Given the description of an element on the screen output the (x, y) to click on. 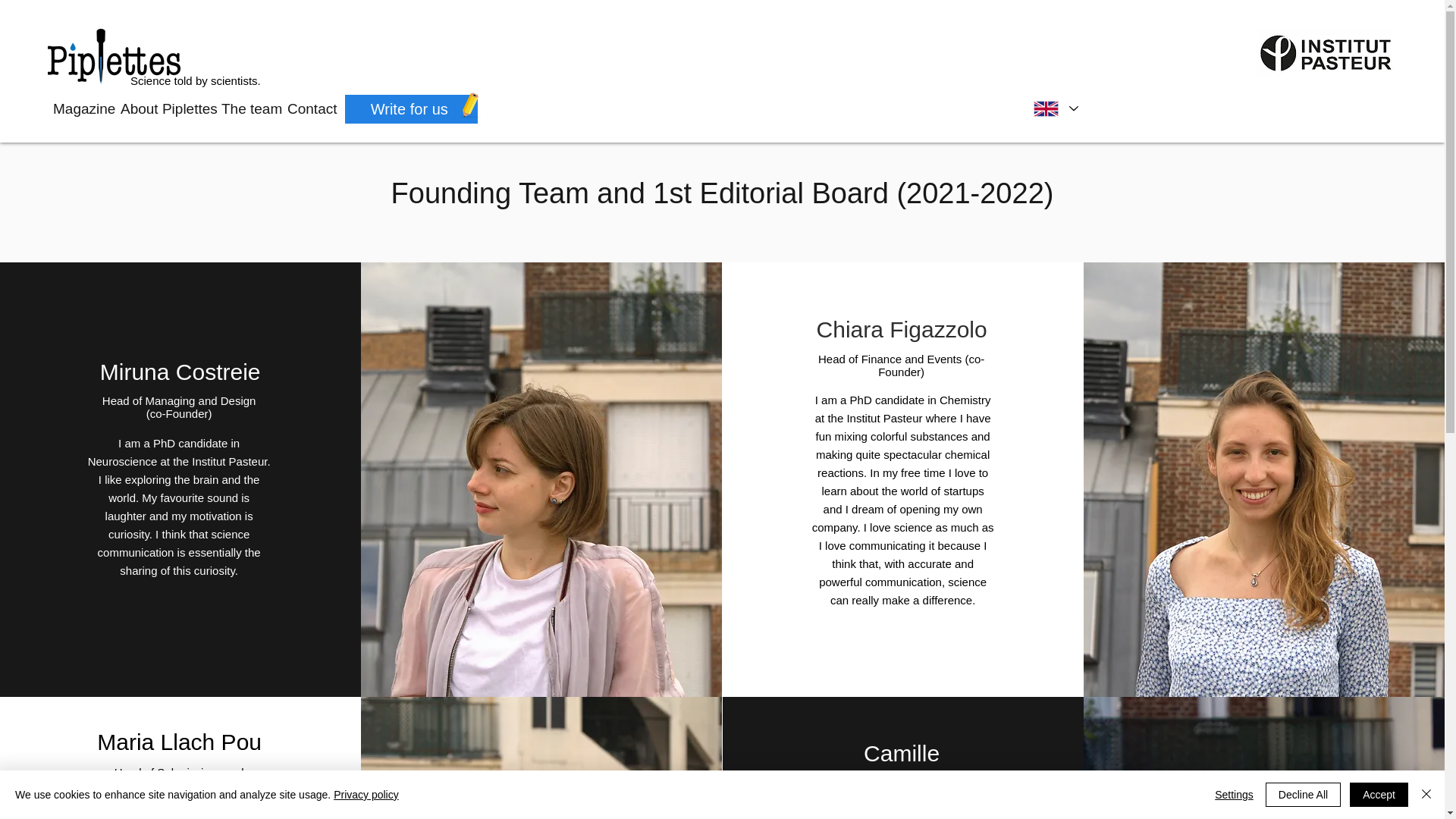
Write for us (411, 109)
Accept (1378, 794)
Chiara Figazzolo (901, 329)
About Piplettes (163, 108)
Decline All (1302, 794)
Magazine (79, 108)
Maria Llach Pou (179, 741)
Accueil (115, 55)
Contact (308, 108)
The team (246, 108)
